Given the description of an element on the screen output the (x, y) to click on. 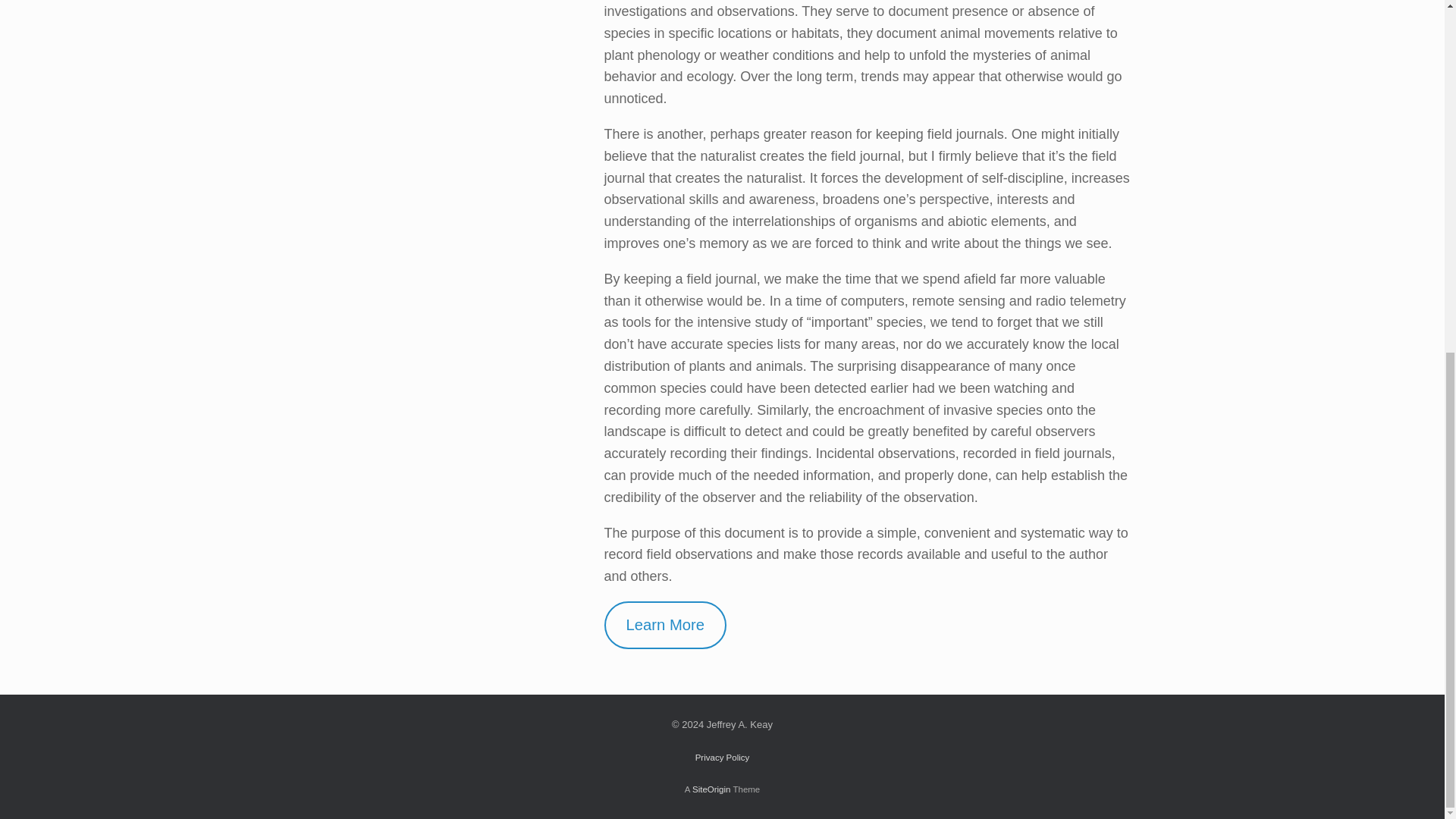
Learn More (665, 625)
Privacy Policy (722, 757)
SiteOrigin (711, 788)
